Given the description of an element on the screen output the (x, y) to click on. 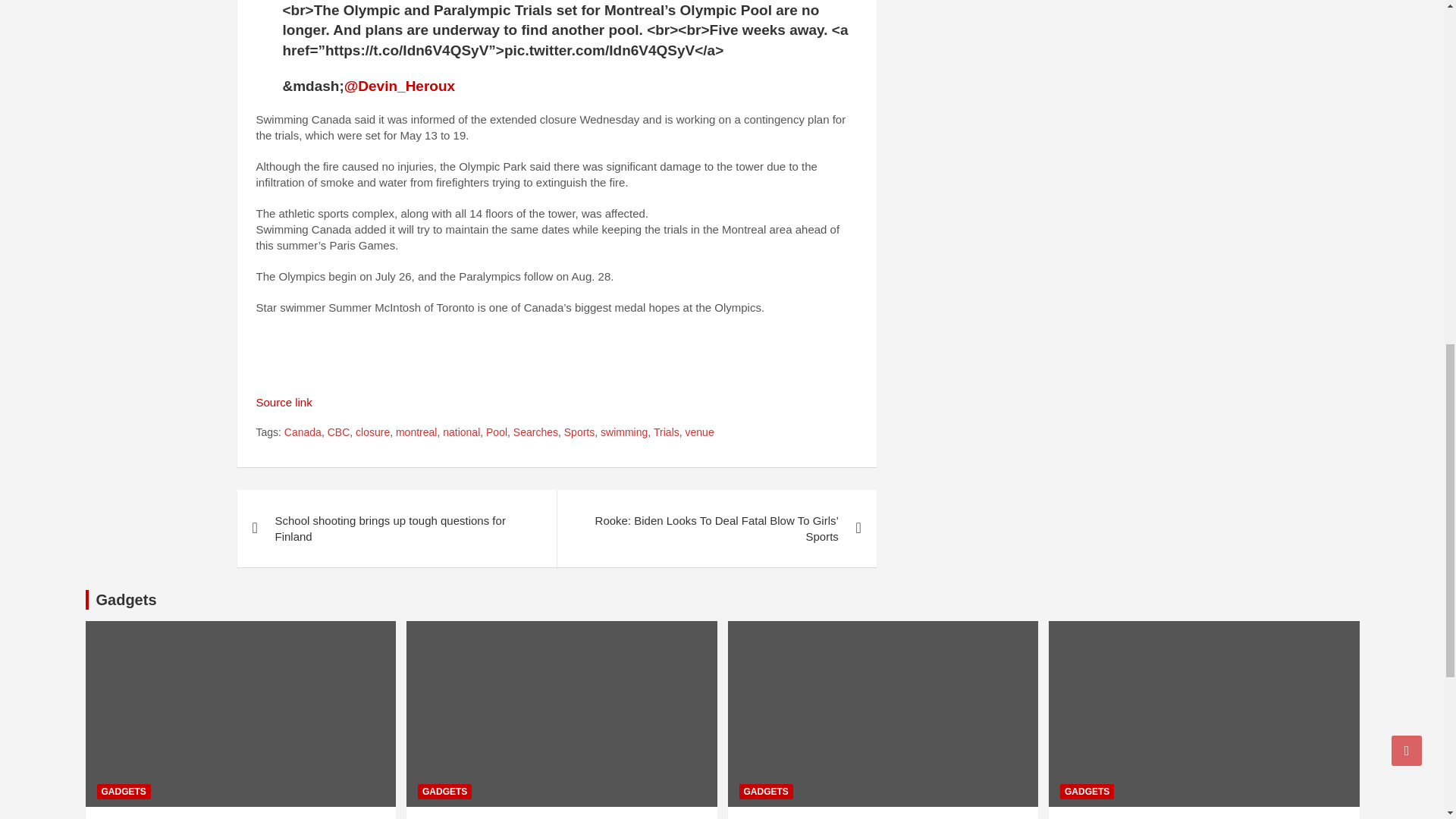
swimming (623, 432)
Trials (666, 432)
CBC (338, 432)
School shooting brings up tough questions for Finland (395, 528)
closure (372, 432)
montreal (416, 432)
Sports (579, 432)
Searches (535, 432)
venue (699, 432)
Canada (302, 432)
